Given the description of an element on the screen output the (x, y) to click on. 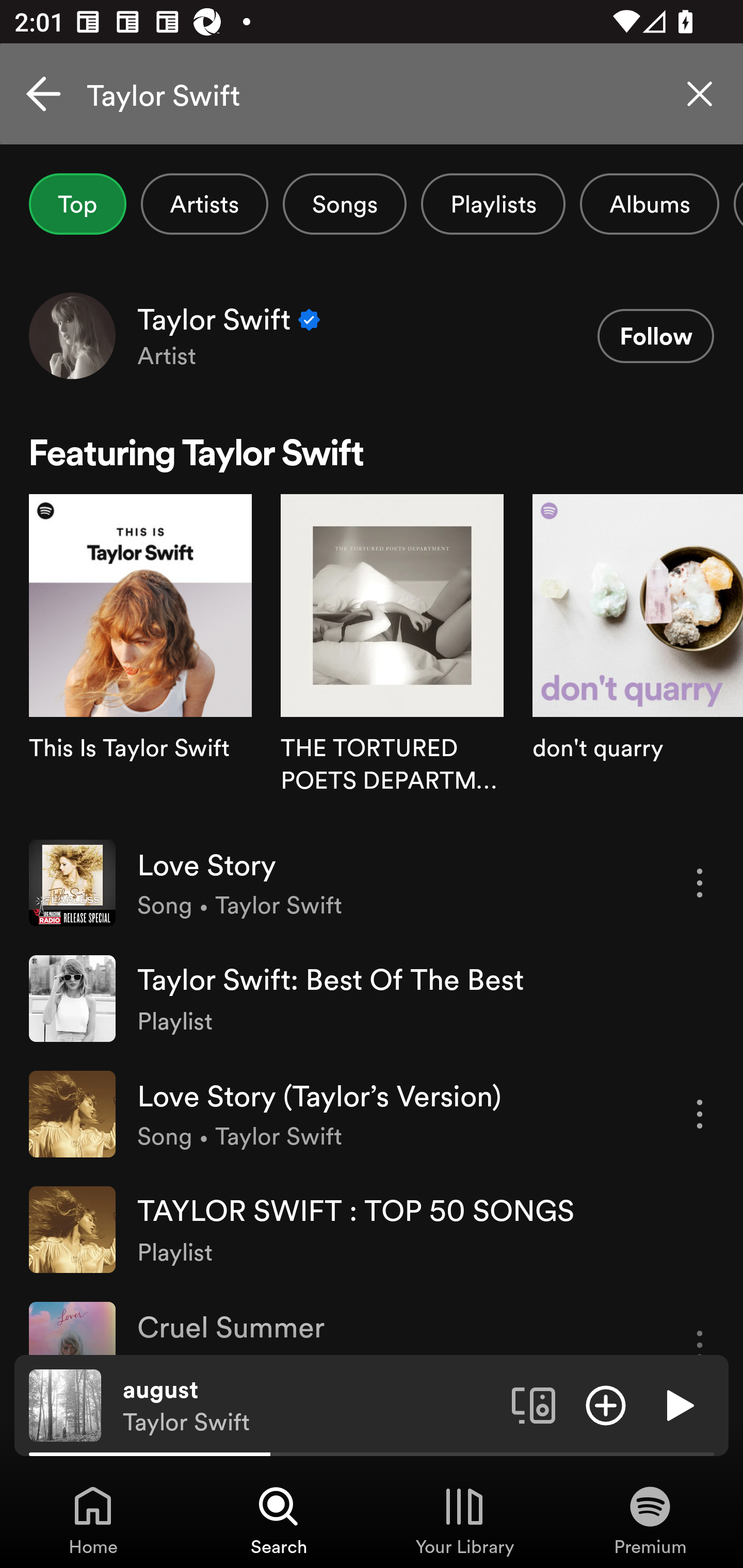
Taylor Swift (371, 93)
Cancel (43, 93)
Clear search query (699, 93)
Top (77, 203)
Artists (204, 203)
Songs (344, 203)
Playlists (493, 203)
Albums (649, 203)
Taylor Swift Verified Artist Follow Follow (371, 335)
Follow (655, 335)
Search card image This Is Taylor Swift (139, 658)
Search card image THE TORTURED POETS DEPARTMENT (391, 658)
Search card image don't quarry (637, 658)
More options for song Love Story (699, 883)
Taylor Swift: Best Of The Best Playlist (371, 998)
TAYLOR SWIFT : TOP 50 SONGS Playlist (371, 1229)
More options for song Cruel Summer (699, 1327)
august Taylor Swift (309, 1405)
The cover art of the currently playing track (64, 1404)
Connect to a device. Opens the devices menu (533, 1404)
Add item (605, 1404)
Play (677, 1404)
Home, Tab 1 of 4 Home Home (92, 1519)
Search, Tab 2 of 4 Search Search (278, 1519)
Your Library, Tab 3 of 4 Your Library Your Library (464, 1519)
Premium, Tab 4 of 4 Premium Premium (650, 1519)
